Given the description of an element on the screen output the (x, y) to click on. 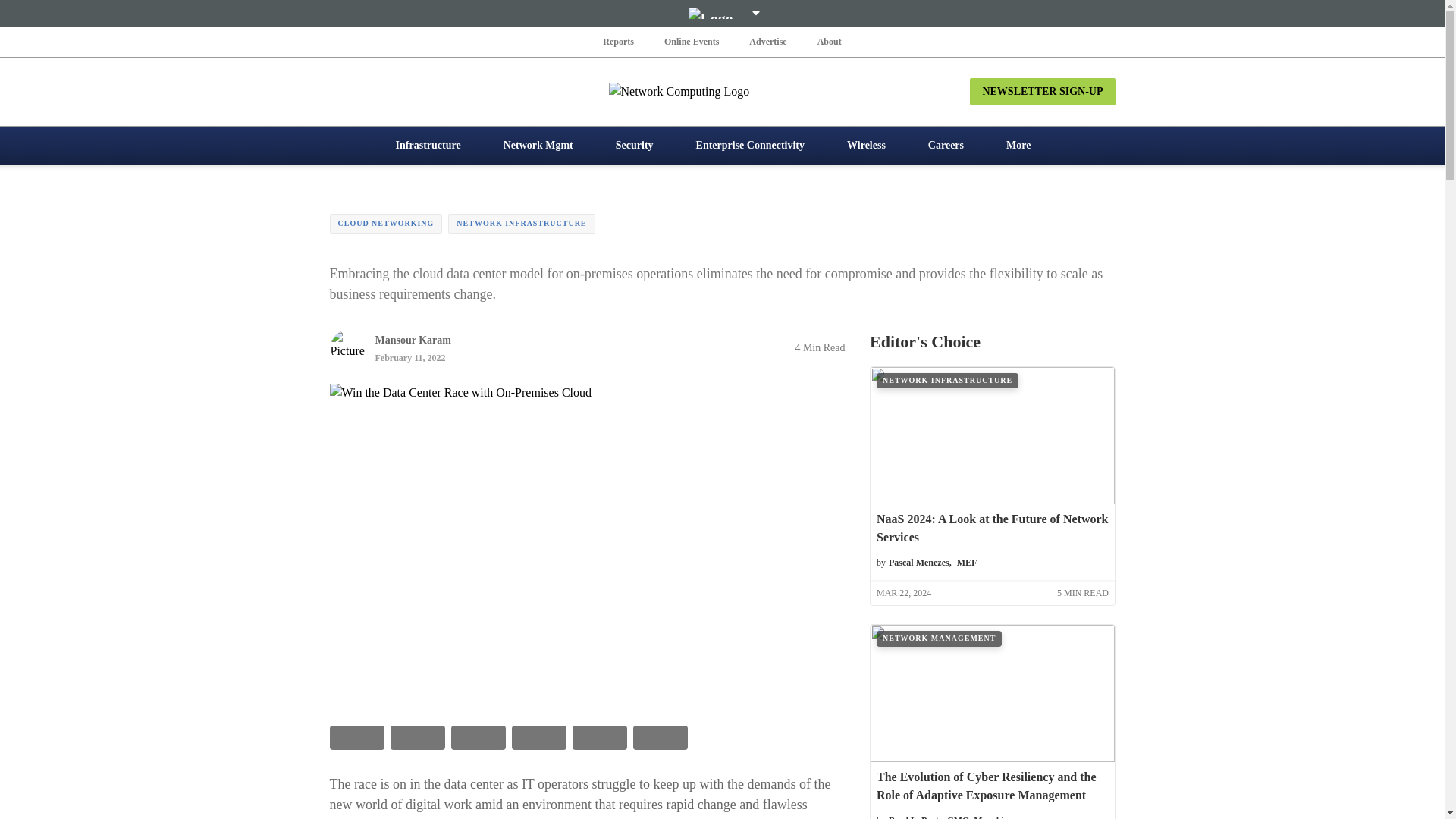
Picture of Mansour Karam (347, 347)
Network Computing Logo (721, 91)
About (828, 41)
Advertise (767, 41)
NEWSLETTER SIGN-UP (1042, 90)
Reports (618, 41)
Online Events (691, 41)
